Given the description of an element on the screen output the (x, y) to click on. 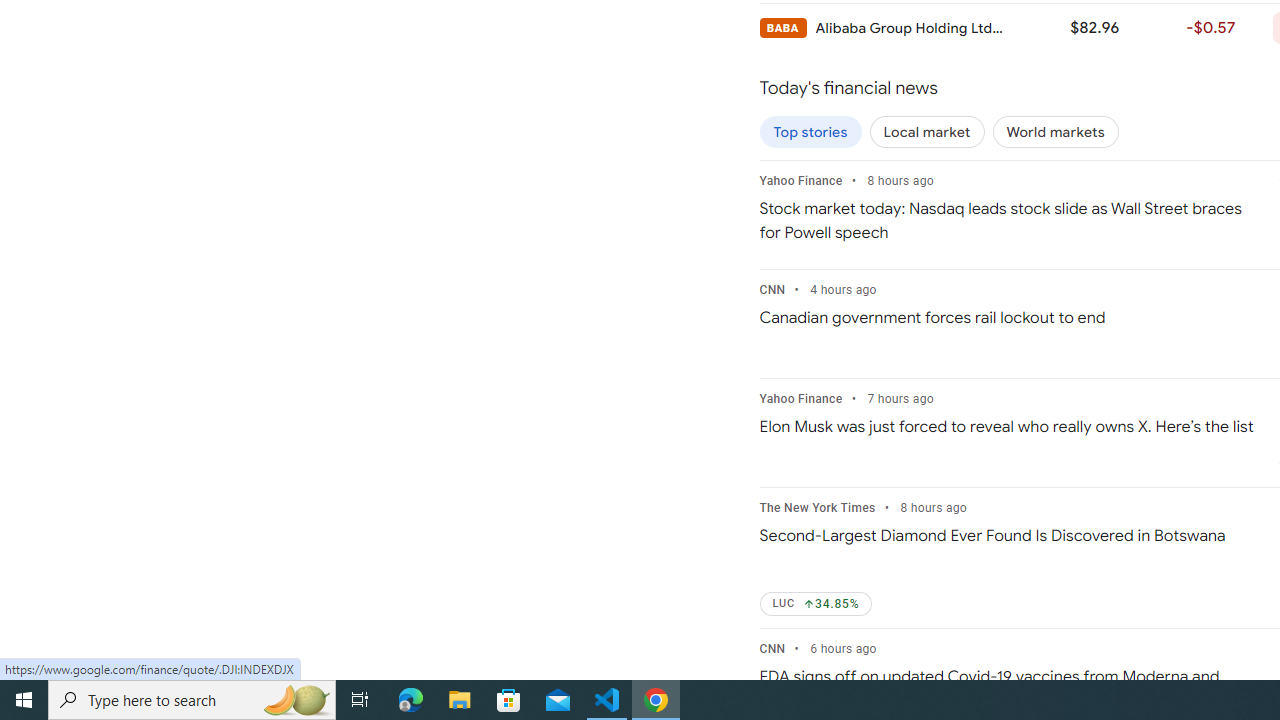
Account (104, 551)
Export (104, 223)
Transform (104, 278)
Options (104, 605)
Print (104, 168)
Recover Unsaved Documents (932, 605)
